Given the description of an element on the screen output the (x, y) to click on. 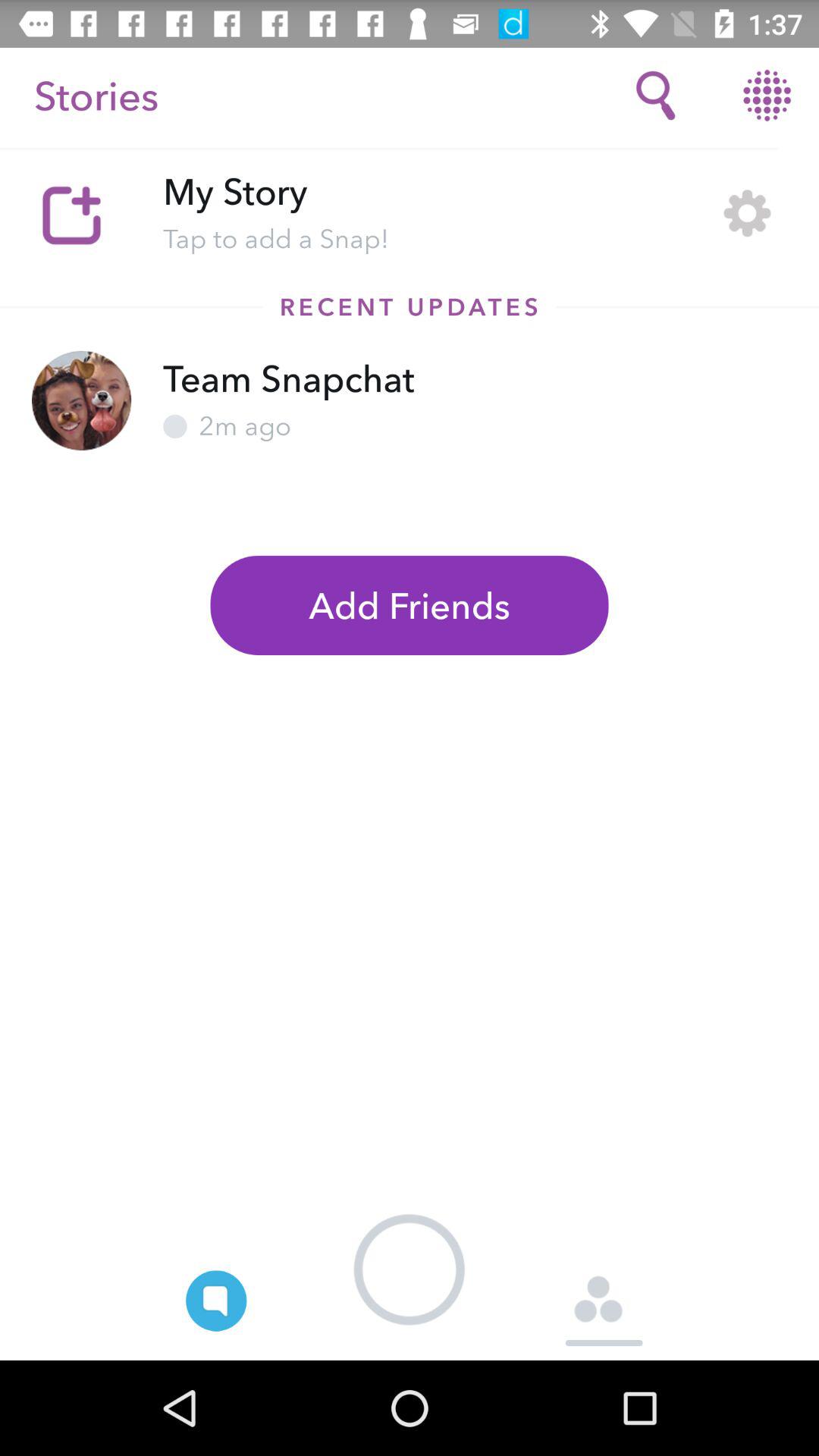
settings option (747, 213)
